Given the description of an element on the screen output the (x, y) to click on. 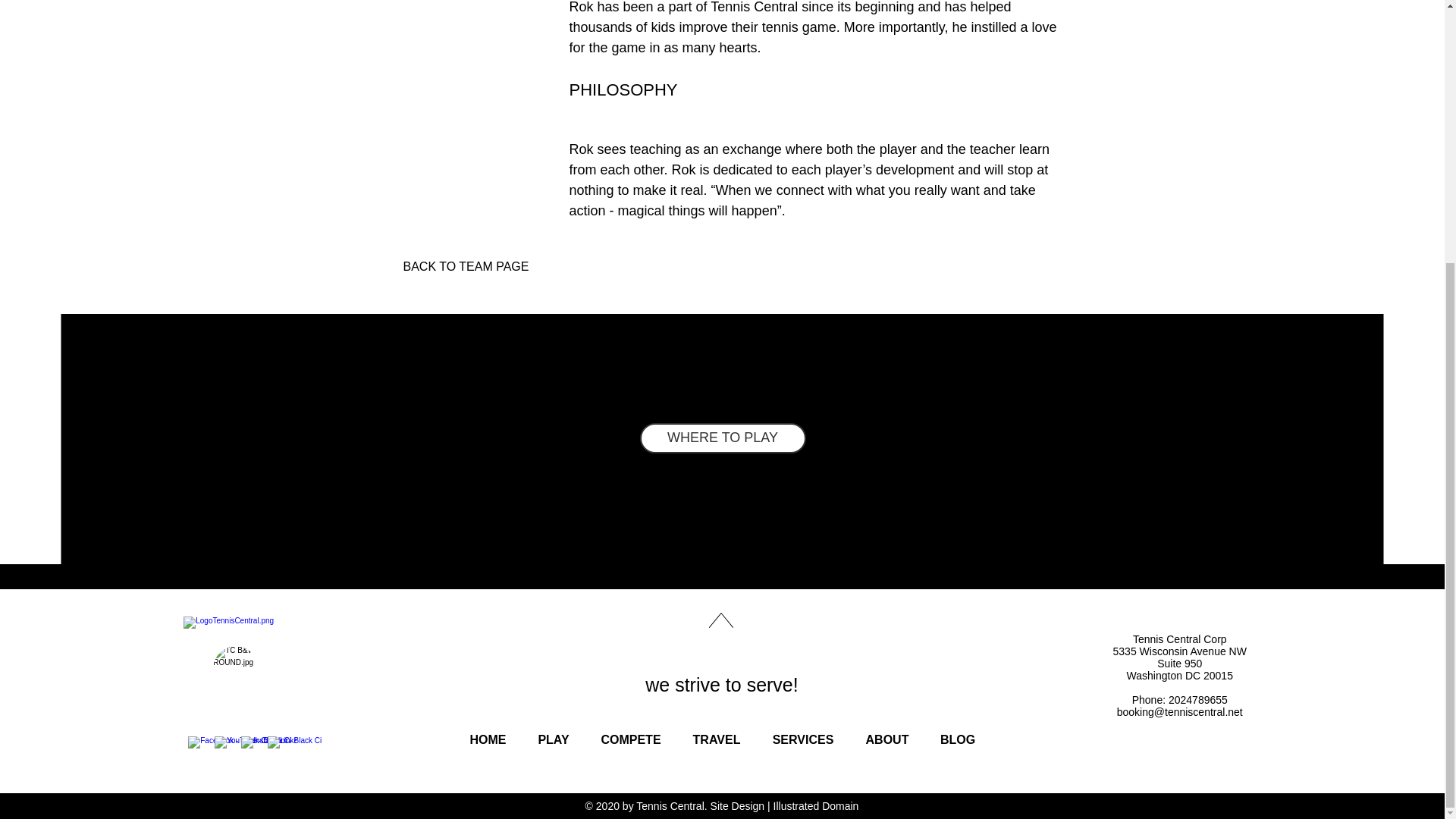
WHERE TO PLAY (723, 438)
BACK TO TEAM PAGE (465, 266)
HOME (486, 740)
PLAY (553, 740)
